Given the description of an element on the screen output the (x, y) to click on. 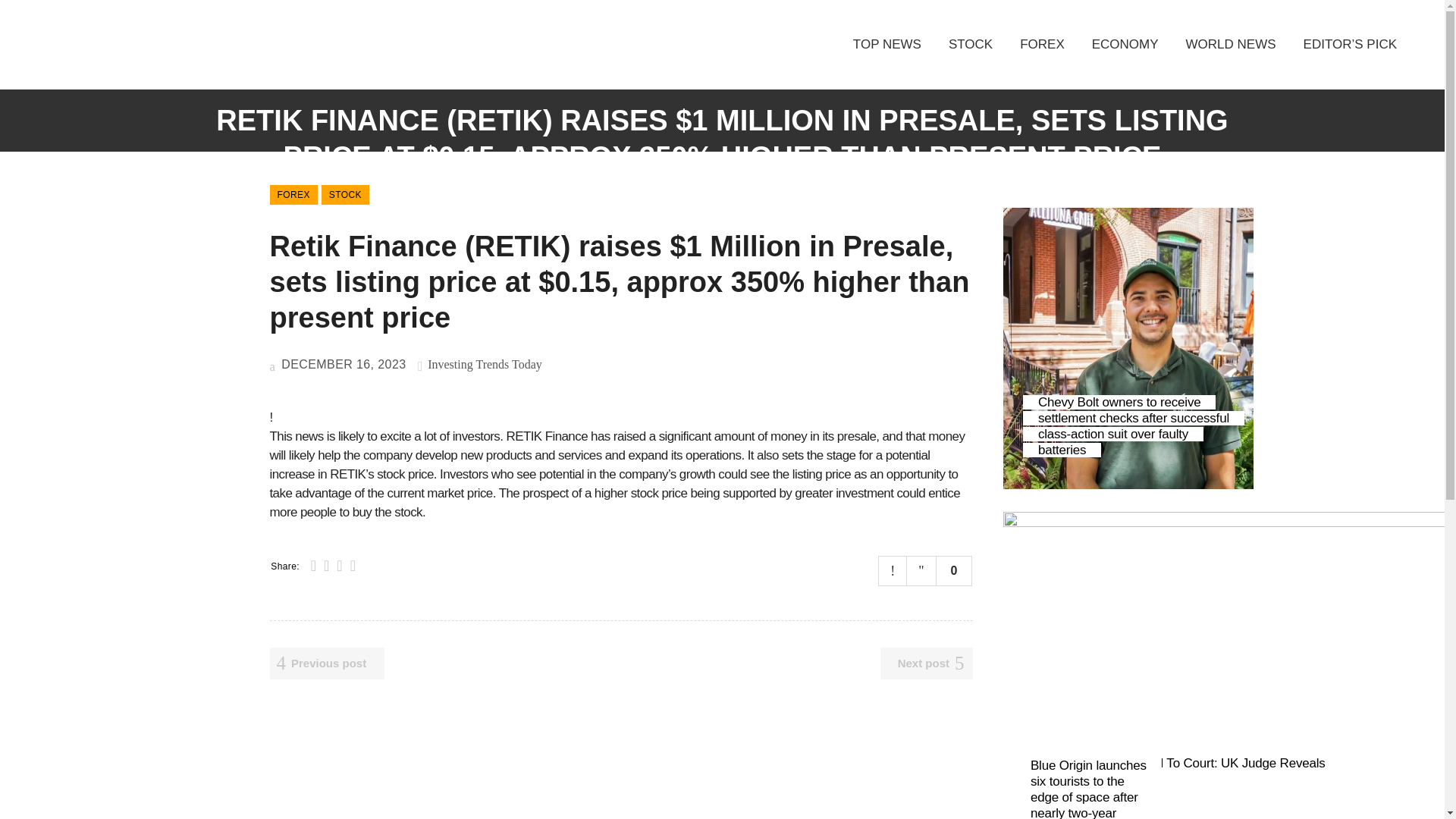
FOREX (293, 194)
Craig Wright Lied To Court: UK Judge Reveals (1195, 762)
STOCK (345, 194)
Next post (926, 663)
Previous post (327, 663)
DECEMBER 16, 2023 (337, 364)
TOP NEWS (887, 44)
WORLD NEWS (1231, 44)
Investing Trends Today (484, 364)
ECONOMY (1125, 44)
